Given the description of an element on the screen output the (x, y) to click on. 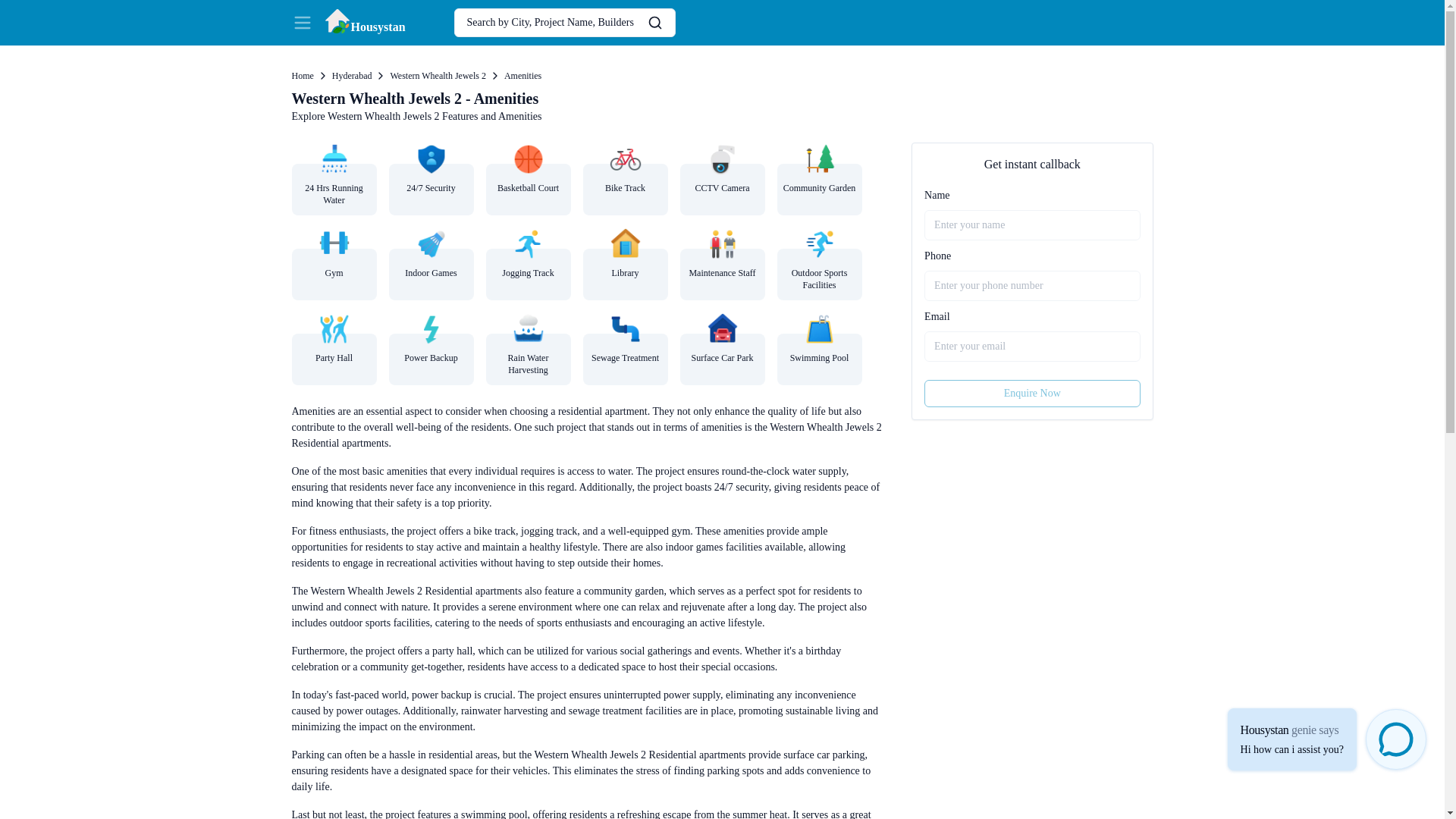
Hyderabad (351, 75)
Housystan Logo (364, 22)
Housystan (364, 22)
Search by City, Project Name, Builders (722, 75)
Home (564, 22)
Search properties (302, 75)
Enquire Now (564, 22)
Western Whealth Jewels 2 (1032, 393)
Amenities (437, 75)
